Given the description of an element on the screen output the (x, y) to click on. 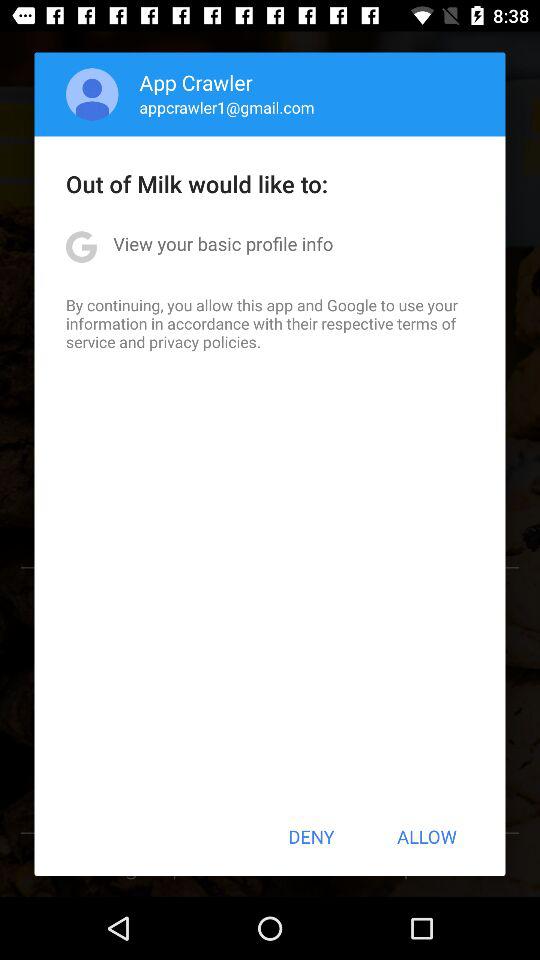
turn off the icon below out of milk item (223, 243)
